Given the description of an element on the screen output the (x, y) to click on. 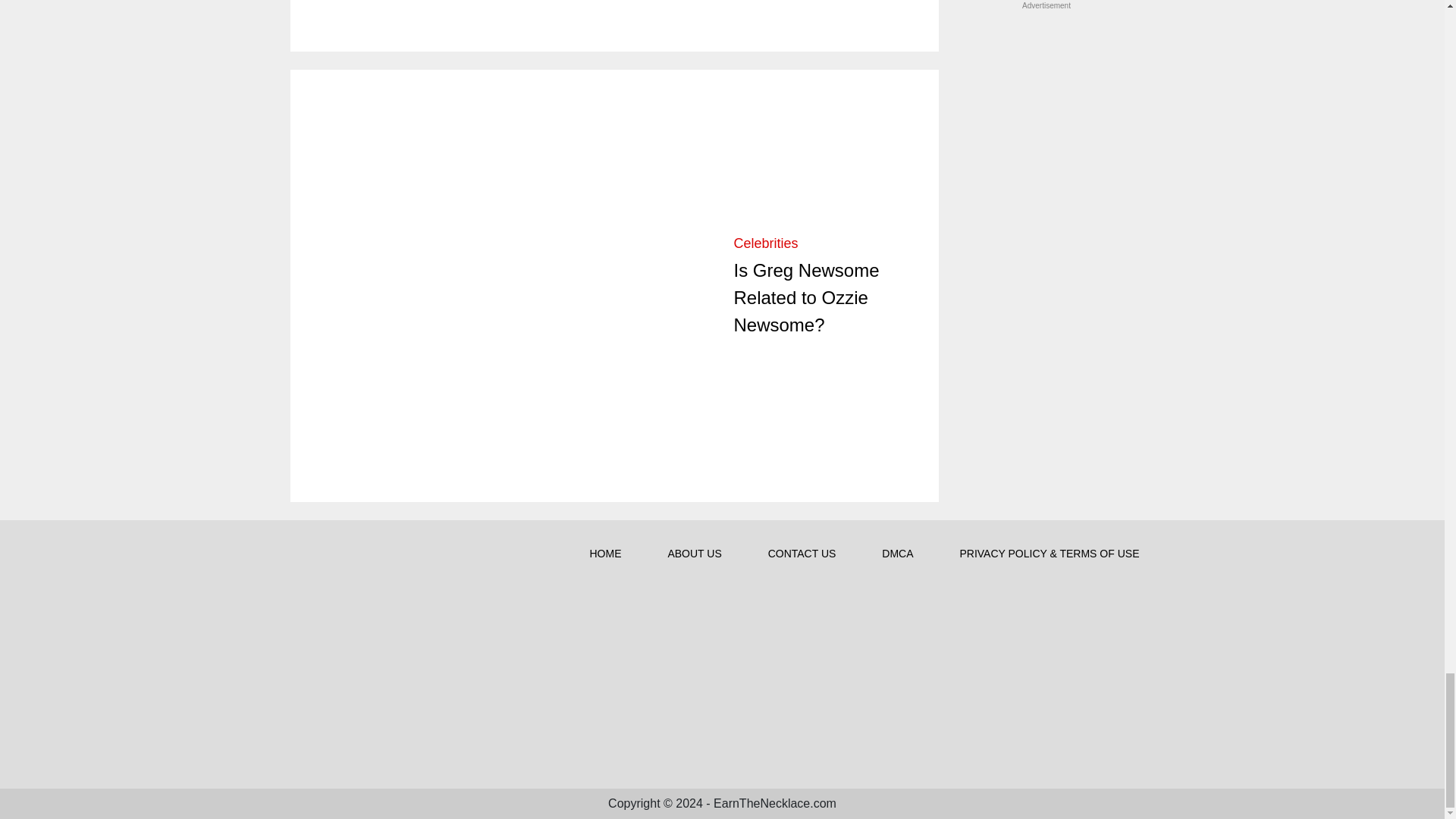
Category Name (765, 242)
